Given the description of an element on the screen output the (x, y) to click on. 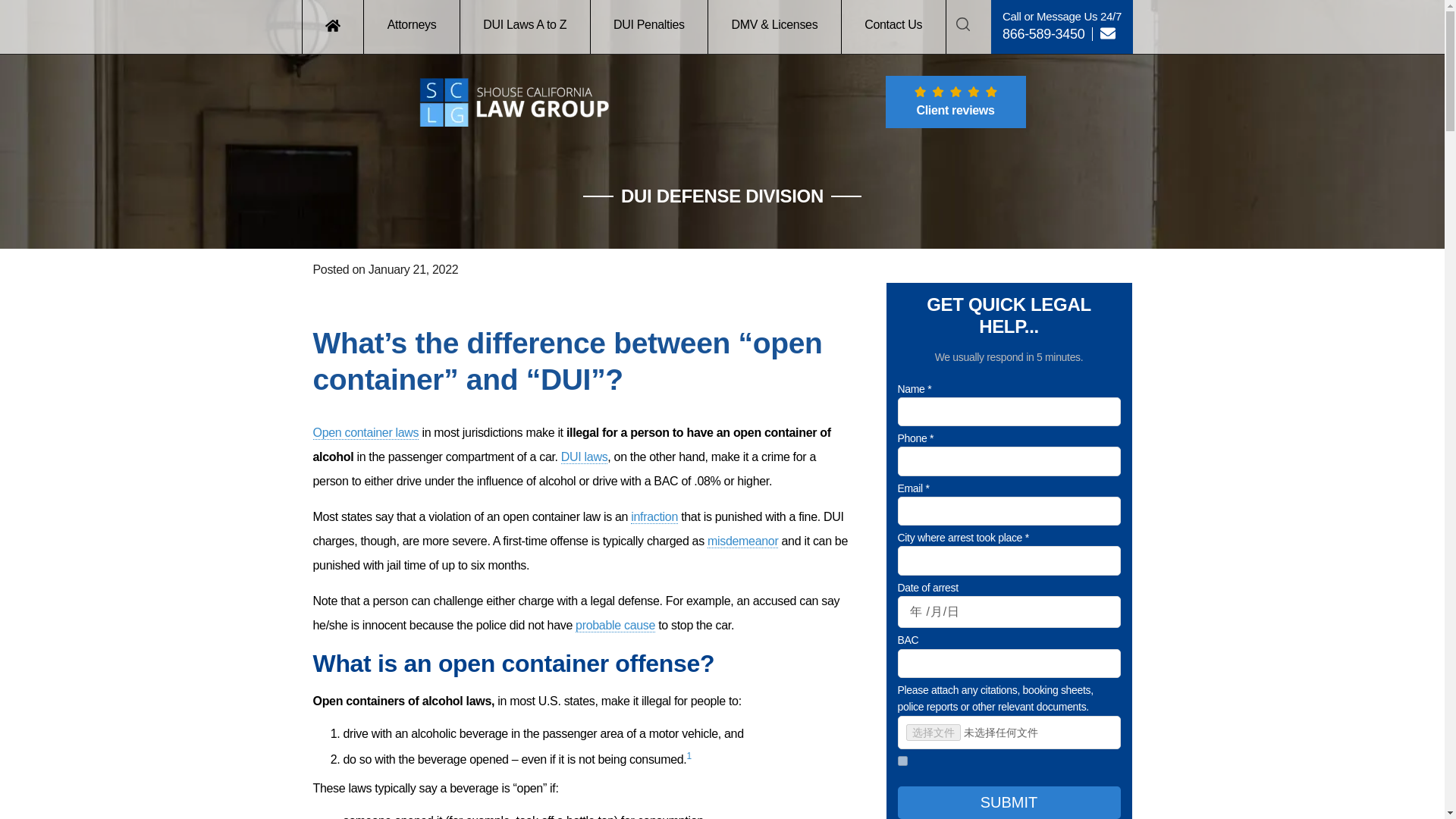
DUI Penalties (650, 27)
Submit (716, 573)
probable cause (615, 625)
misdemeanor (742, 540)
Attorneys (412, 27)
Open container laws (366, 432)
866-589-3450 (1043, 33)
DUI laws (583, 457)
infraction (654, 517)
Submit (1009, 802)
